Given the description of an element on the screen output the (x, y) to click on. 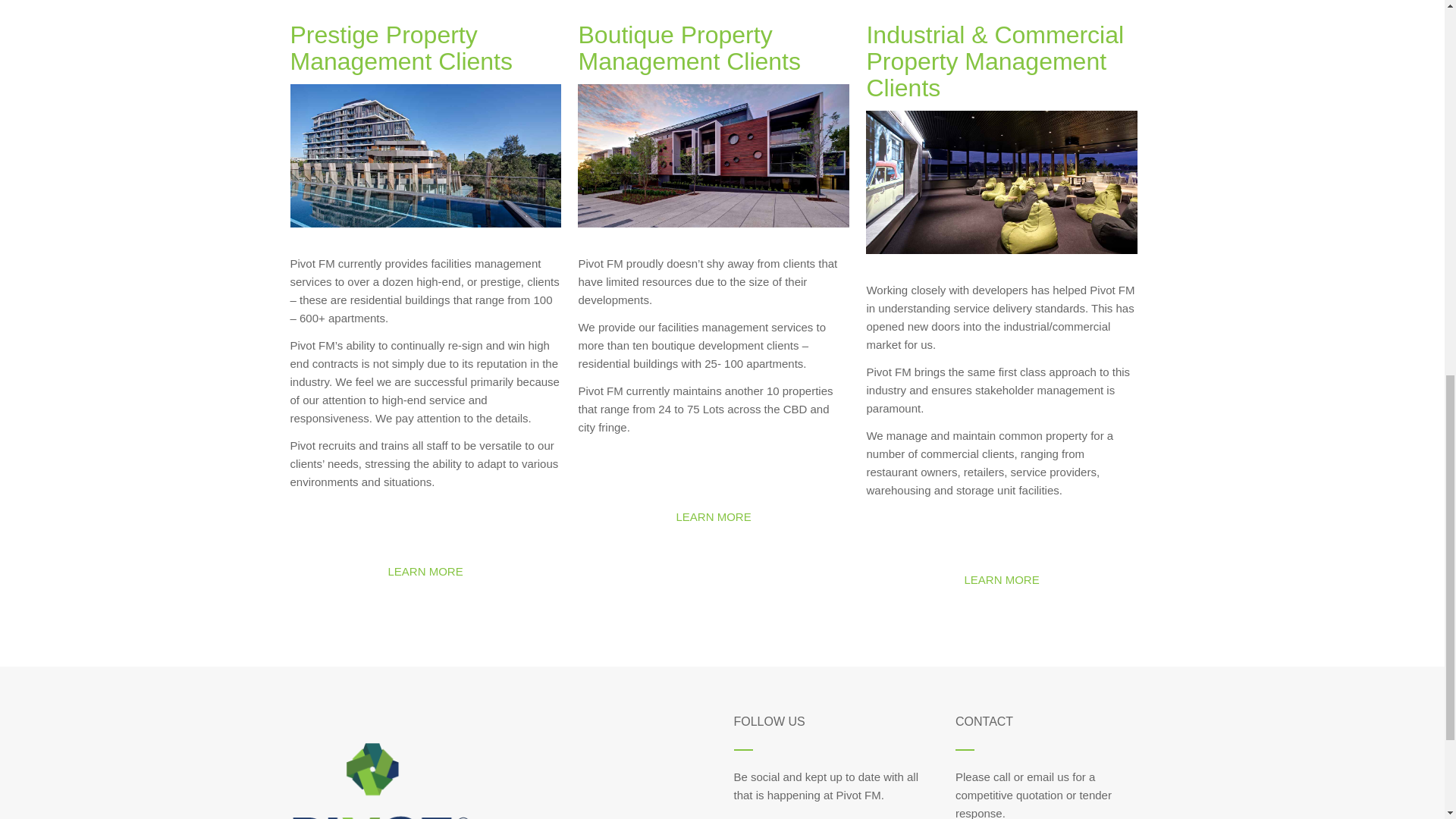
Prestige Property Management Clients (400, 48)
LEARN MORE (713, 516)
Boutique Property Management Clients (688, 48)
LEARN MORE (424, 571)
LEARN MORE (1001, 579)
